Given the description of an element on the screen output the (x, y) to click on. 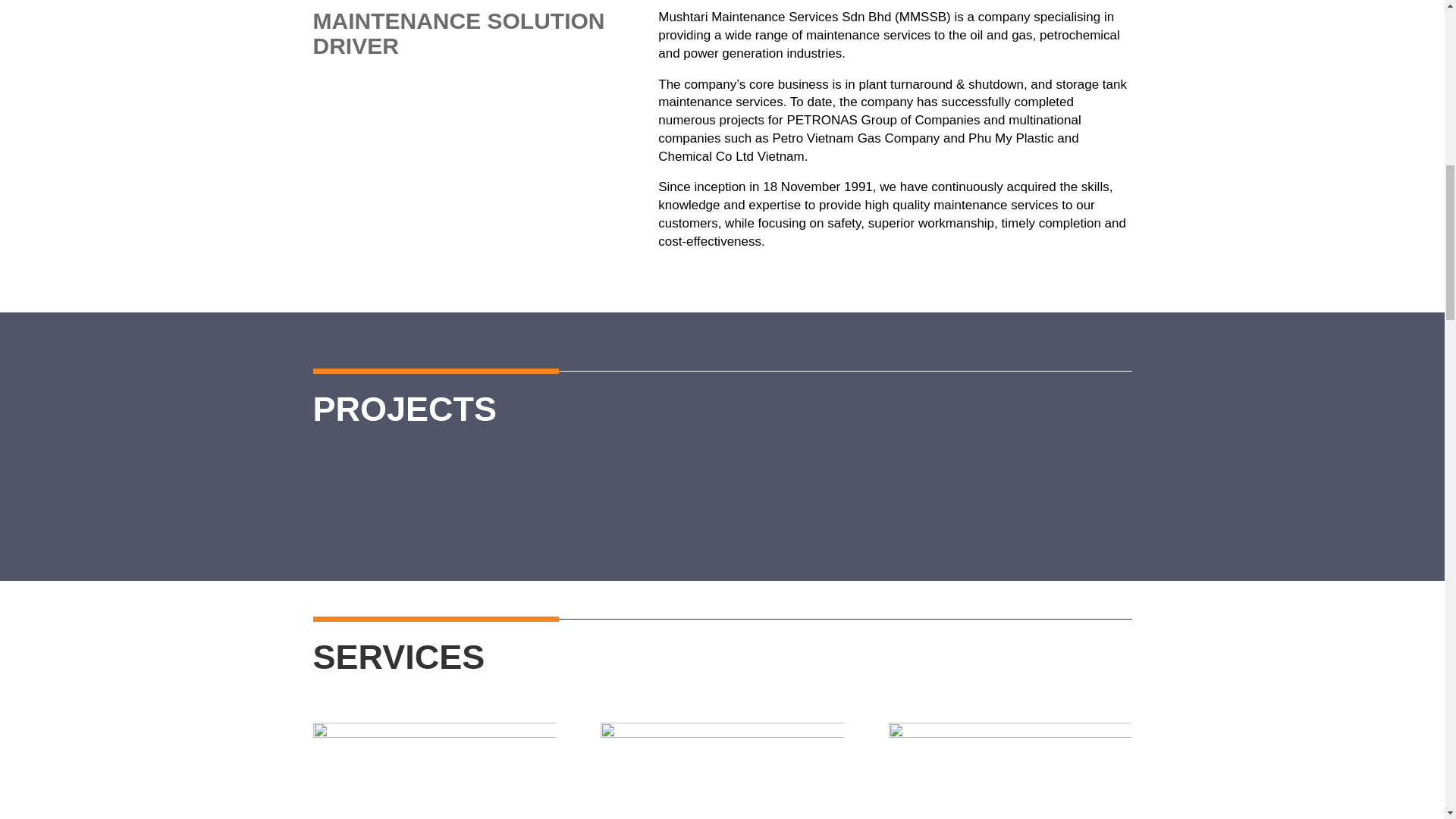
maintenance-and-repair (1009, 770)
plant-turnaround (433, 770)
tank (721, 770)
